Given the description of an element on the screen output the (x, y) to click on. 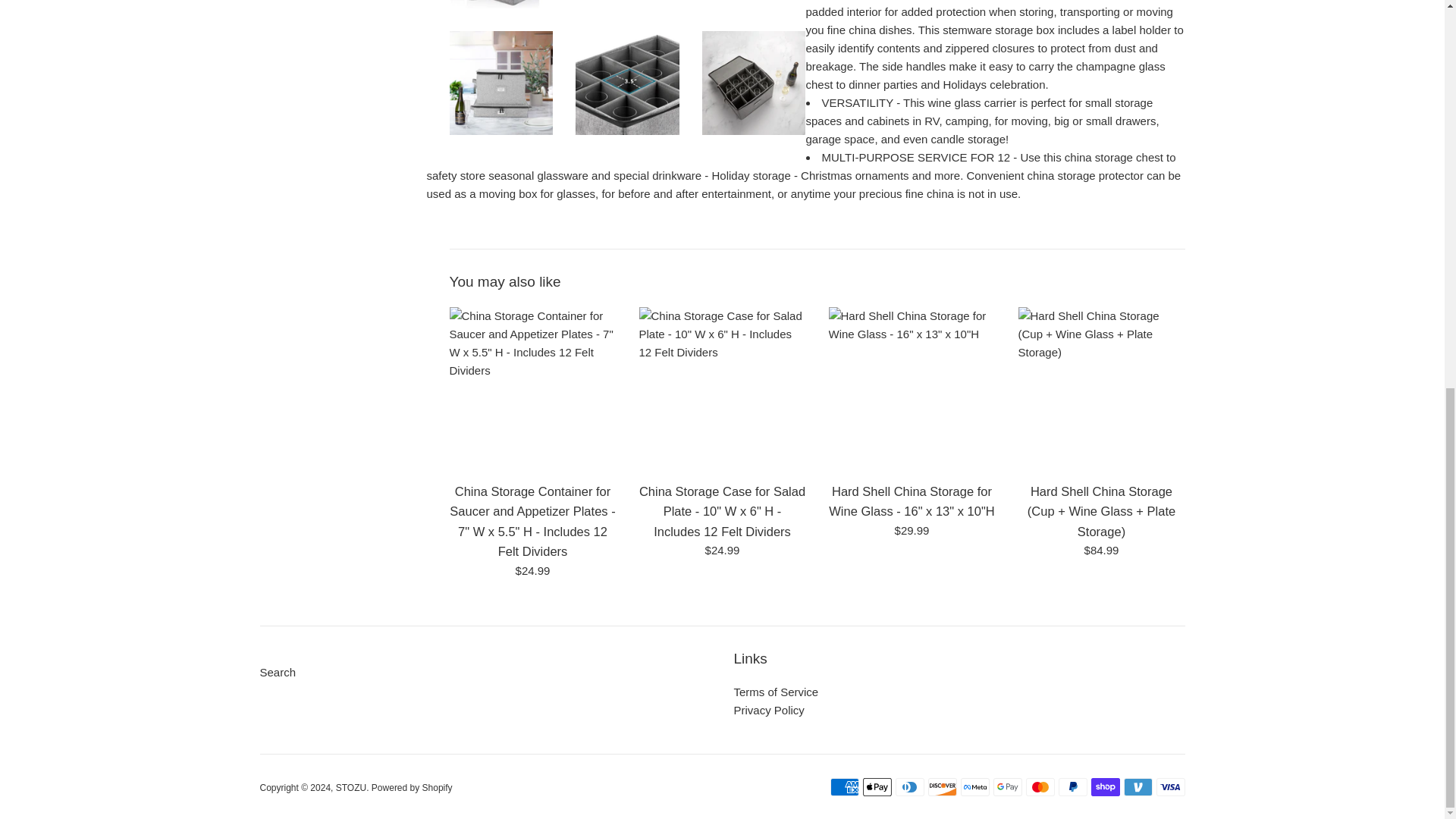
PayPal (1072, 787)
Google Pay (1007, 787)
Terms of Service (775, 691)
American Express (844, 787)
Meta Pay (973, 787)
Venmo (1138, 787)
Hard Shell China Storage for Wine Glass - 16" x 13" x 10"H (911, 500)
Apple Pay (877, 787)
Hard Shell China Storage for Wine Glass - 16" x 13" x 10"H (911, 390)
Visa (1170, 787)
Mastercard (1039, 787)
